Given the description of an element on the screen output the (x, y) to click on. 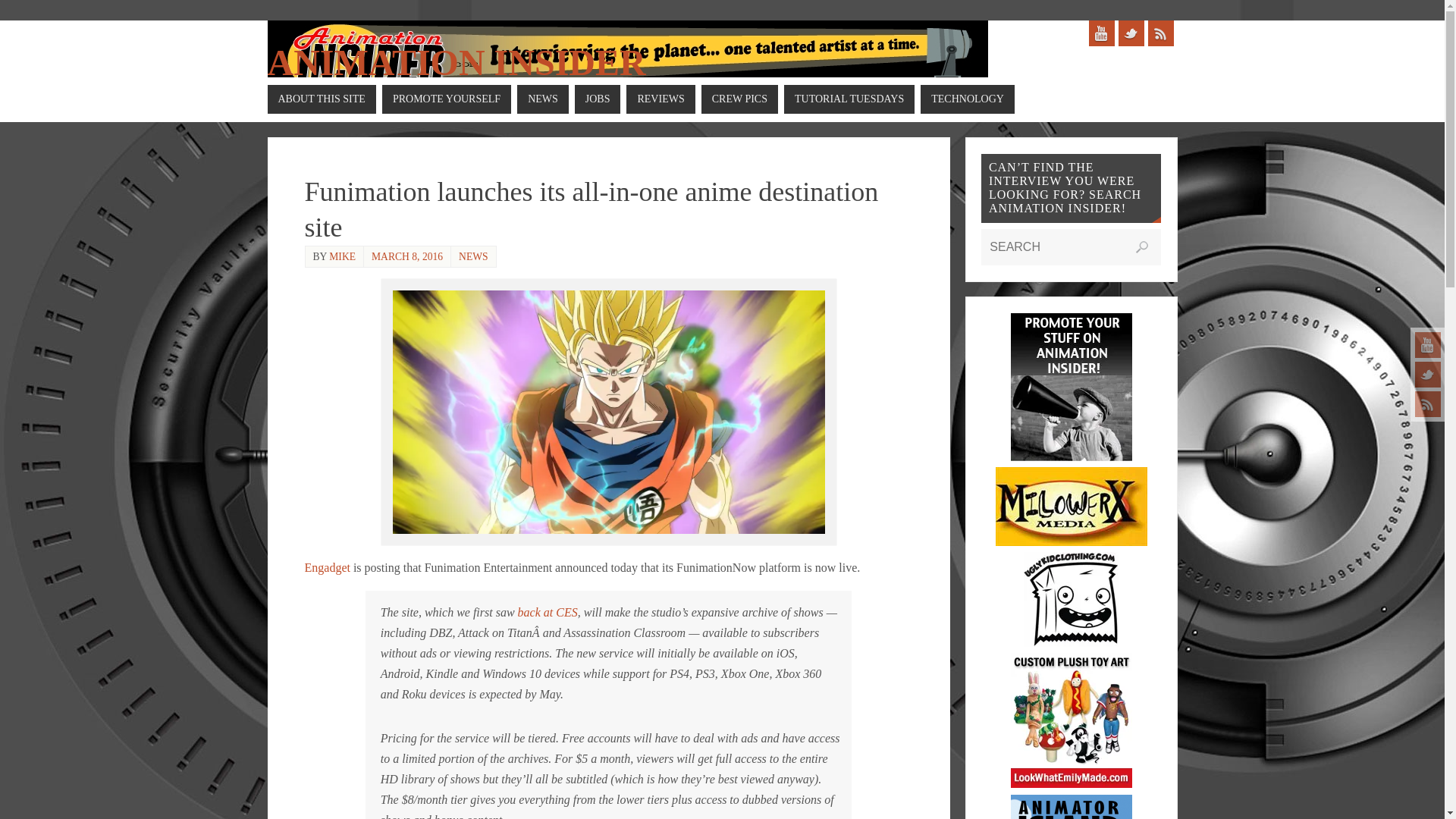
PROMOTE YOURSELF (446, 99)
CREW PICS (739, 99)
REVIEWS (660, 99)
Twitter (1428, 374)
NEWS (472, 256)
Engadget (327, 567)
MIKE (342, 256)
View all posts by Mike (342, 256)
Twitter (1130, 32)
ABOUT THIS SITE (320, 99)
